Given the description of an element on the screen output the (x, y) to click on. 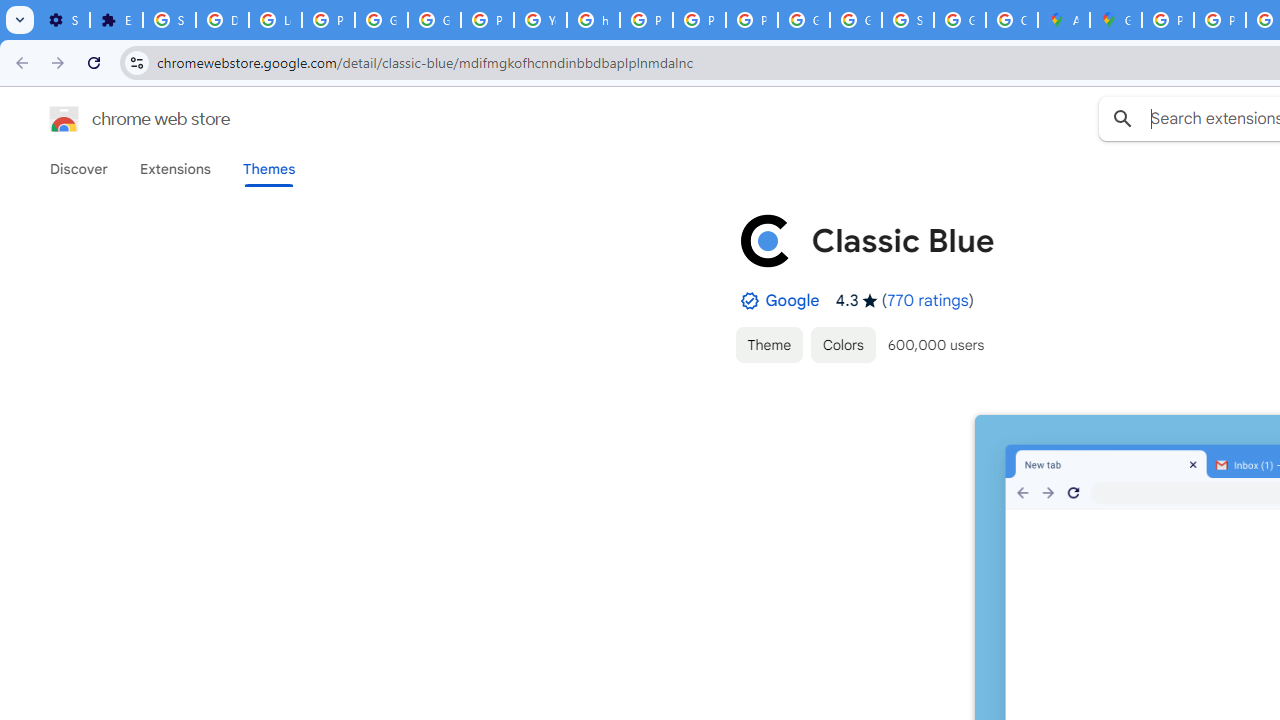
Theme (768, 344)
Chrome Web Store logo chrome web store (118, 118)
Create your Google Account (1011, 20)
770 ratings (927, 300)
Sign in - Google Accounts (907, 20)
Colors (843, 344)
By Established Publisher Badge (749, 301)
Privacy Help Center - Policies Help (1219, 20)
Google Account Help (381, 20)
